Given the description of an element on the screen output the (x, y) to click on. 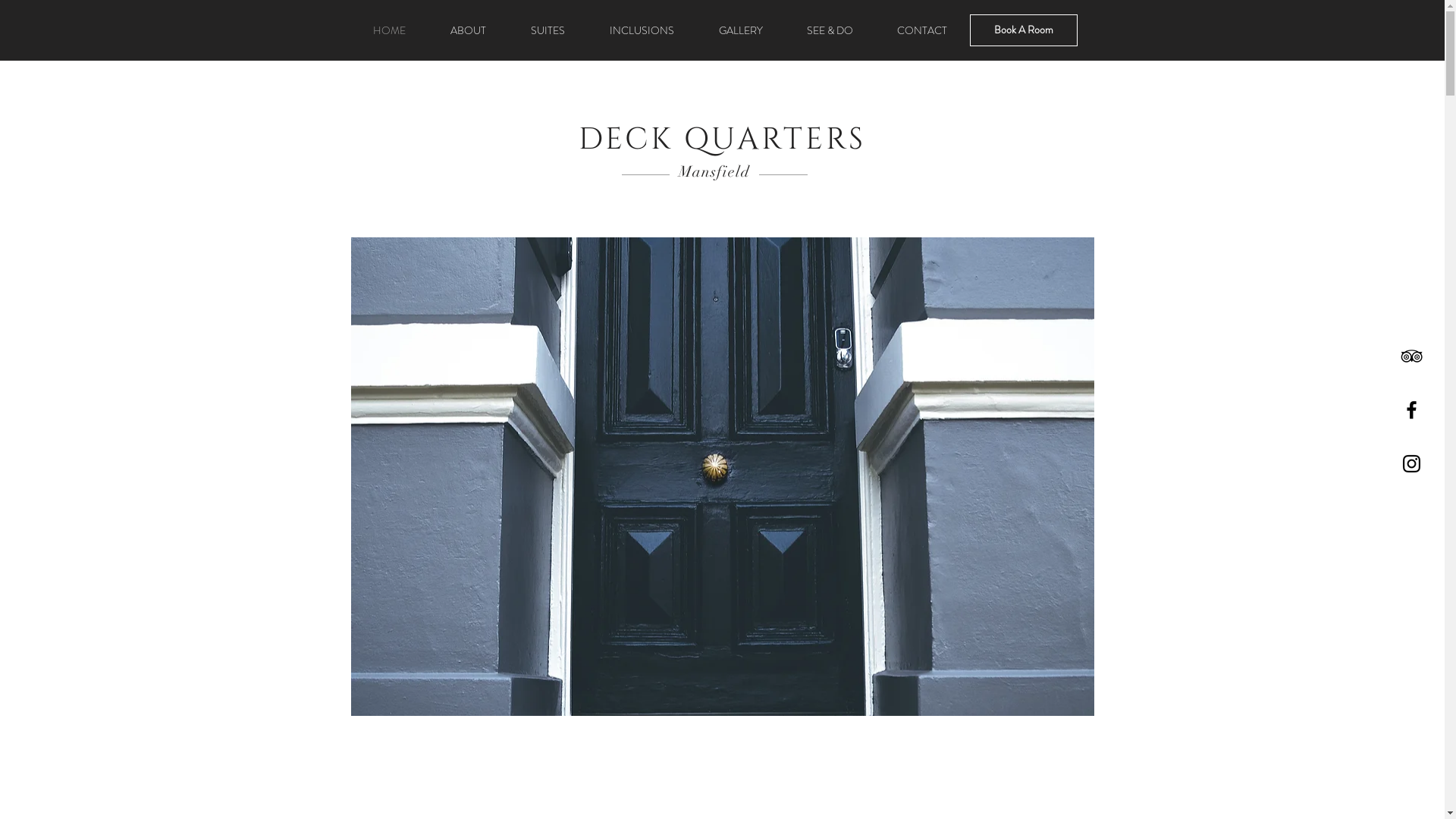
HOME Element type: text (388, 30)
INCLUSIONS Element type: text (641, 30)
ABOUT Element type: text (467, 30)
GALLERY Element type: text (740, 30)
SEE & DO Element type: text (829, 30)
CONTACT Element type: text (922, 30)
Book A Room Element type: text (1022, 30)
SUITES Element type: text (547, 30)
